Given the description of an element on the screen output the (x, y) to click on. 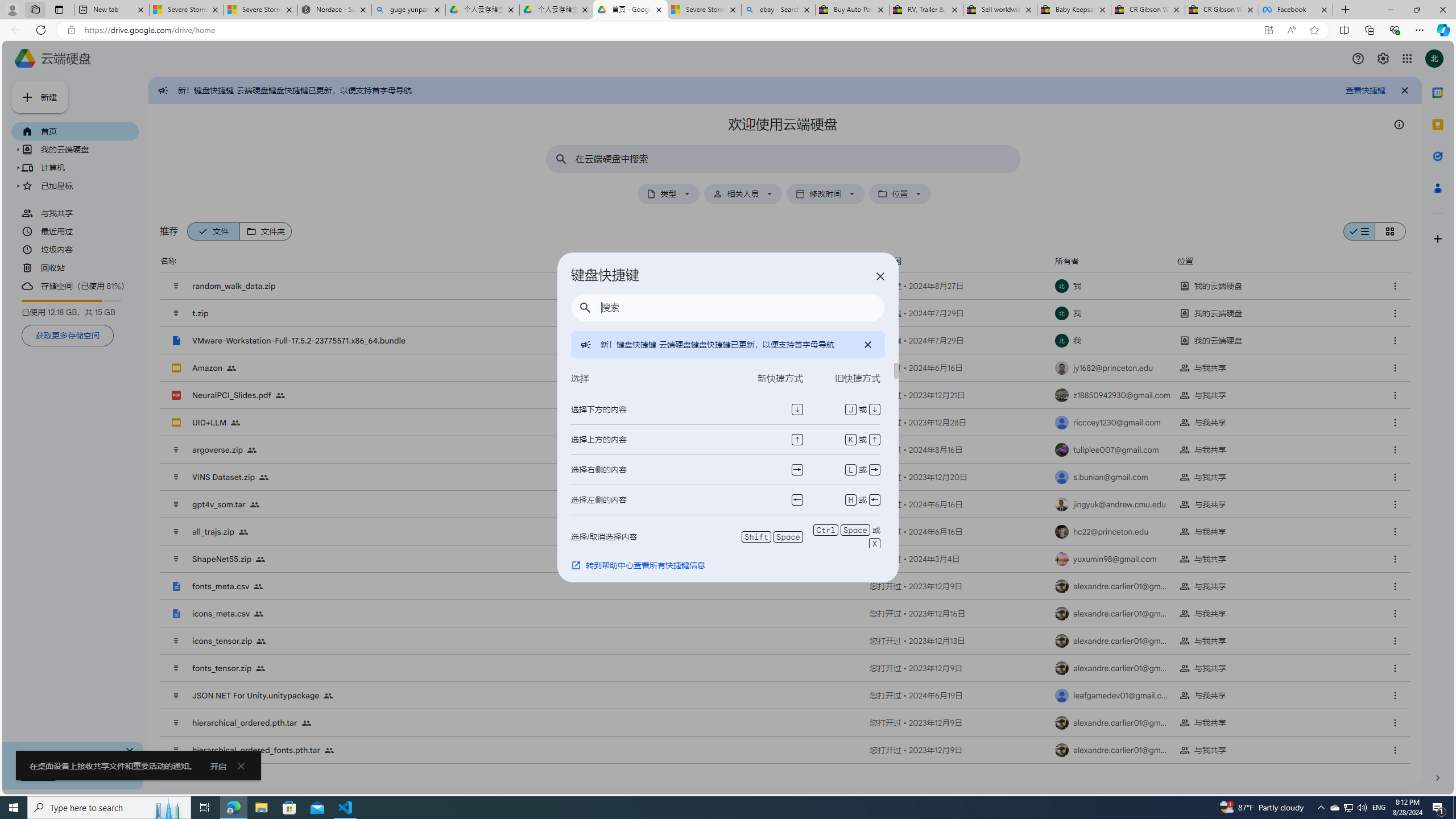
Facebook (1295, 9)
Buy Auto Parts & Accessories | eBay (851, 9)
